Given the description of an element on the screen output the (x, y) to click on. 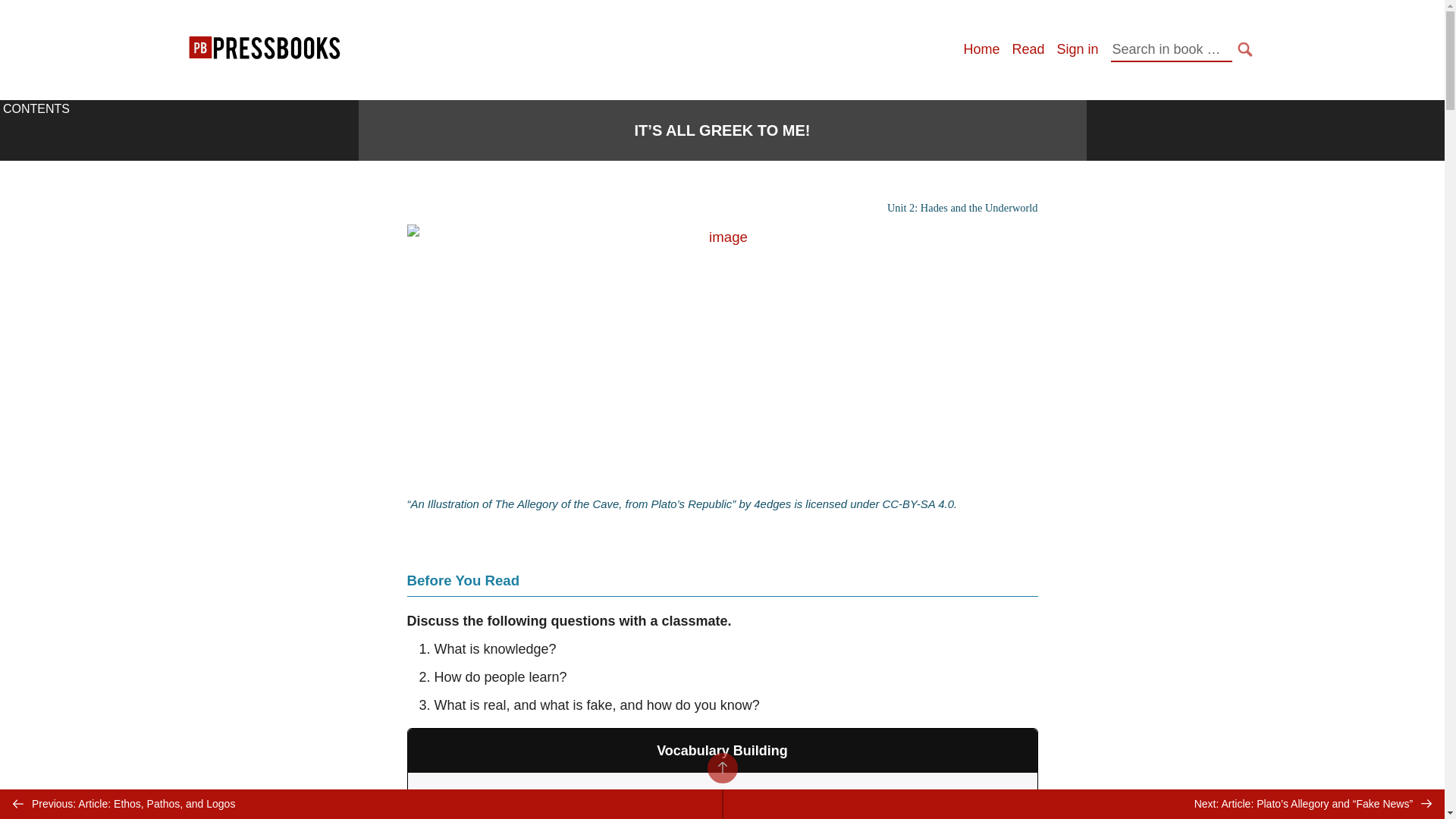
Page 35 (721, 801)
Read (1027, 48)
Sign in (1077, 48)
Previous: Article: Ethos, Pathos, and Logos (361, 804)
Previous: Article: Ethos, Pathos, and Logos (361, 804)
Home (980, 48)
Page 35 (721, 714)
BACK TO TOP (721, 767)
